Given the description of an element on the screen output the (x, y) to click on. 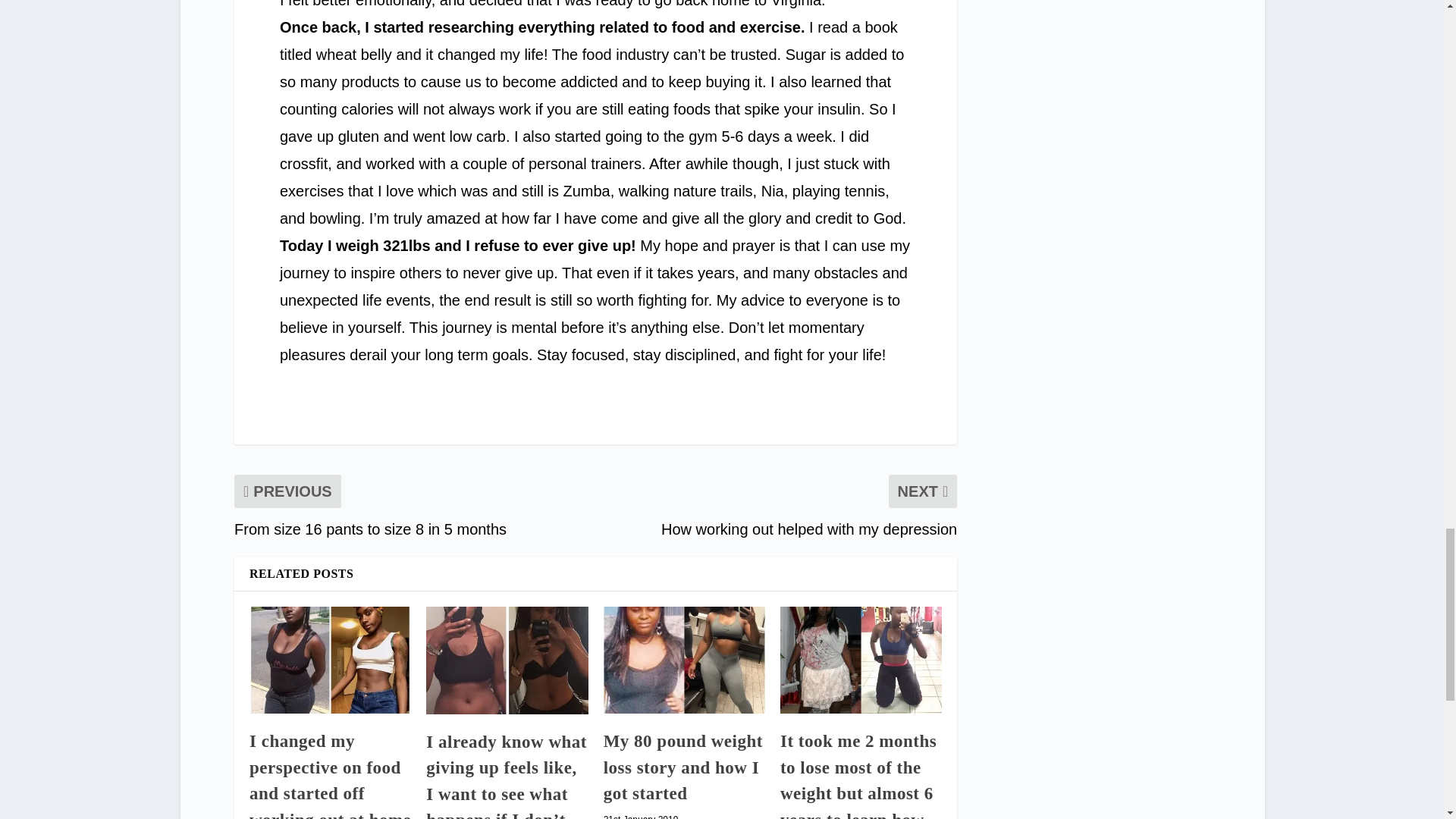
My 80 pound weight loss story and how I got started (683, 767)
My 80 pound weight loss story and how I got started (684, 659)
